Given the description of an element on the screen output the (x, y) to click on. 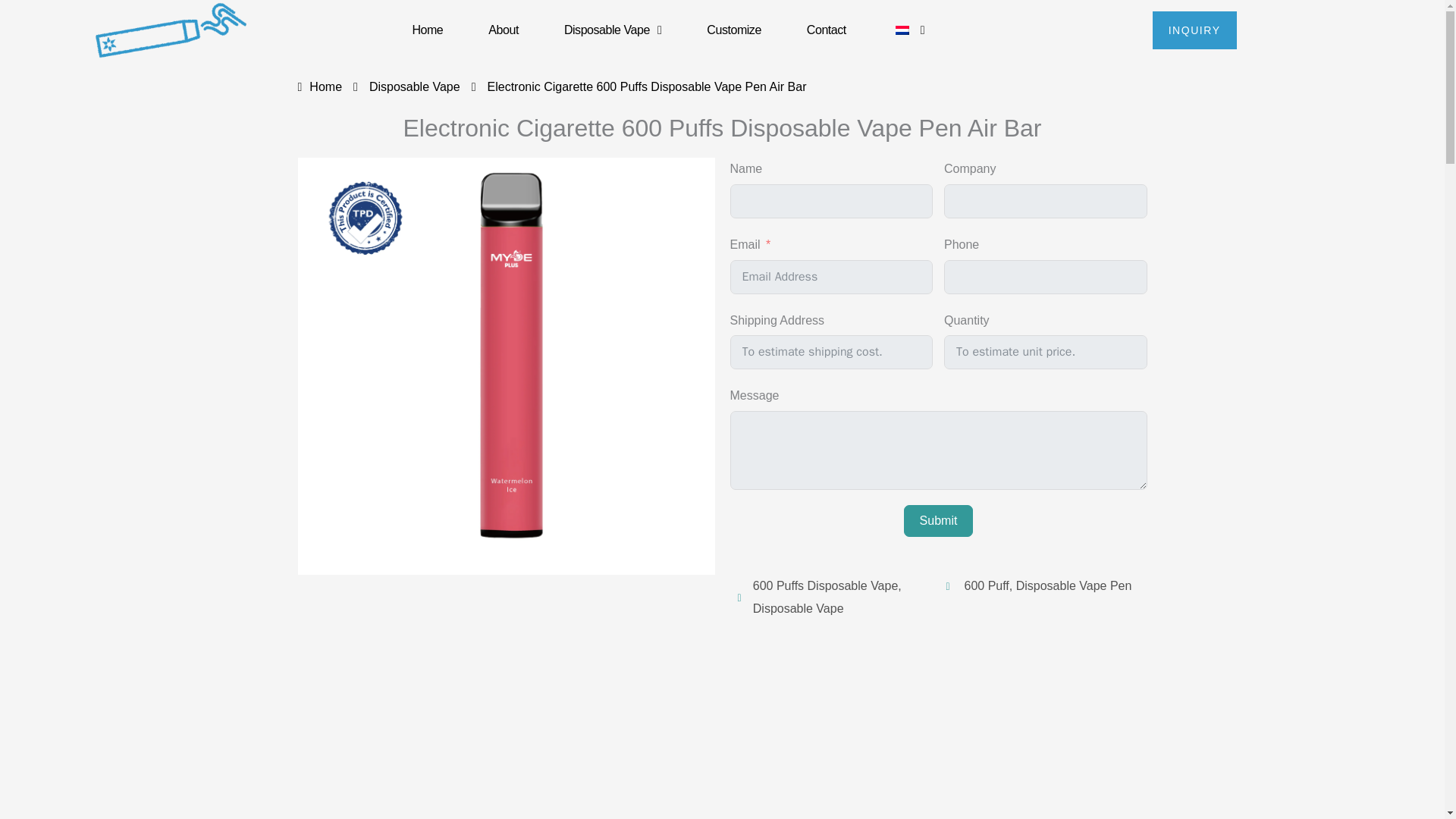
Home (319, 87)
Nederlands (901, 30)
Disposable Vape (612, 30)
Home (426, 30)
Contact (826, 30)
About (502, 30)
Customize (733, 30)
INQUIRY (1194, 30)
